Given the description of an element on the screen output the (x, y) to click on. 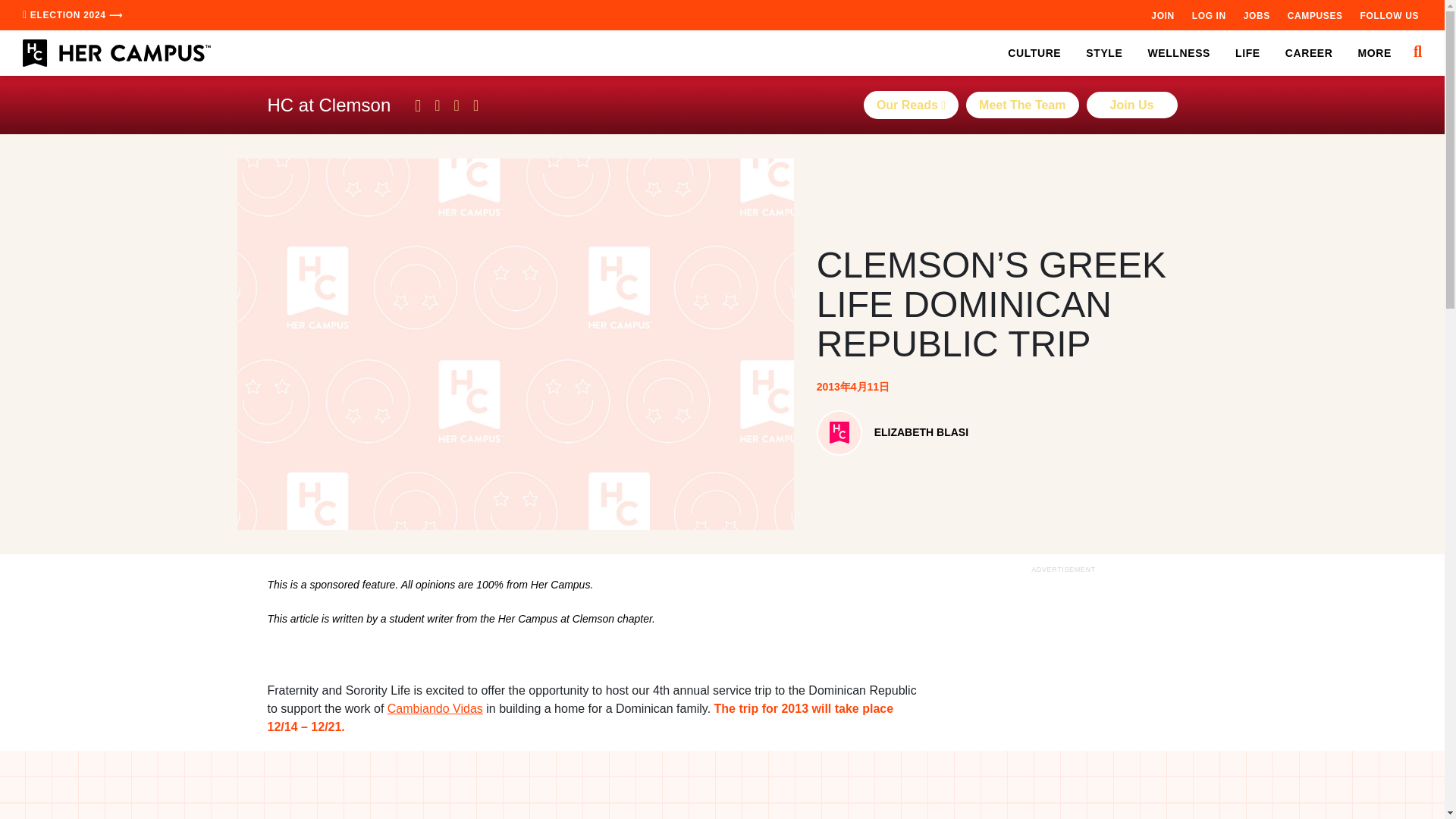
CAMPUSES (1314, 15)
LOG IN (1208, 15)
JOIN (1162, 15)
JOBS (1256, 15)
